Given the description of an element on the screen output the (x, y) to click on. 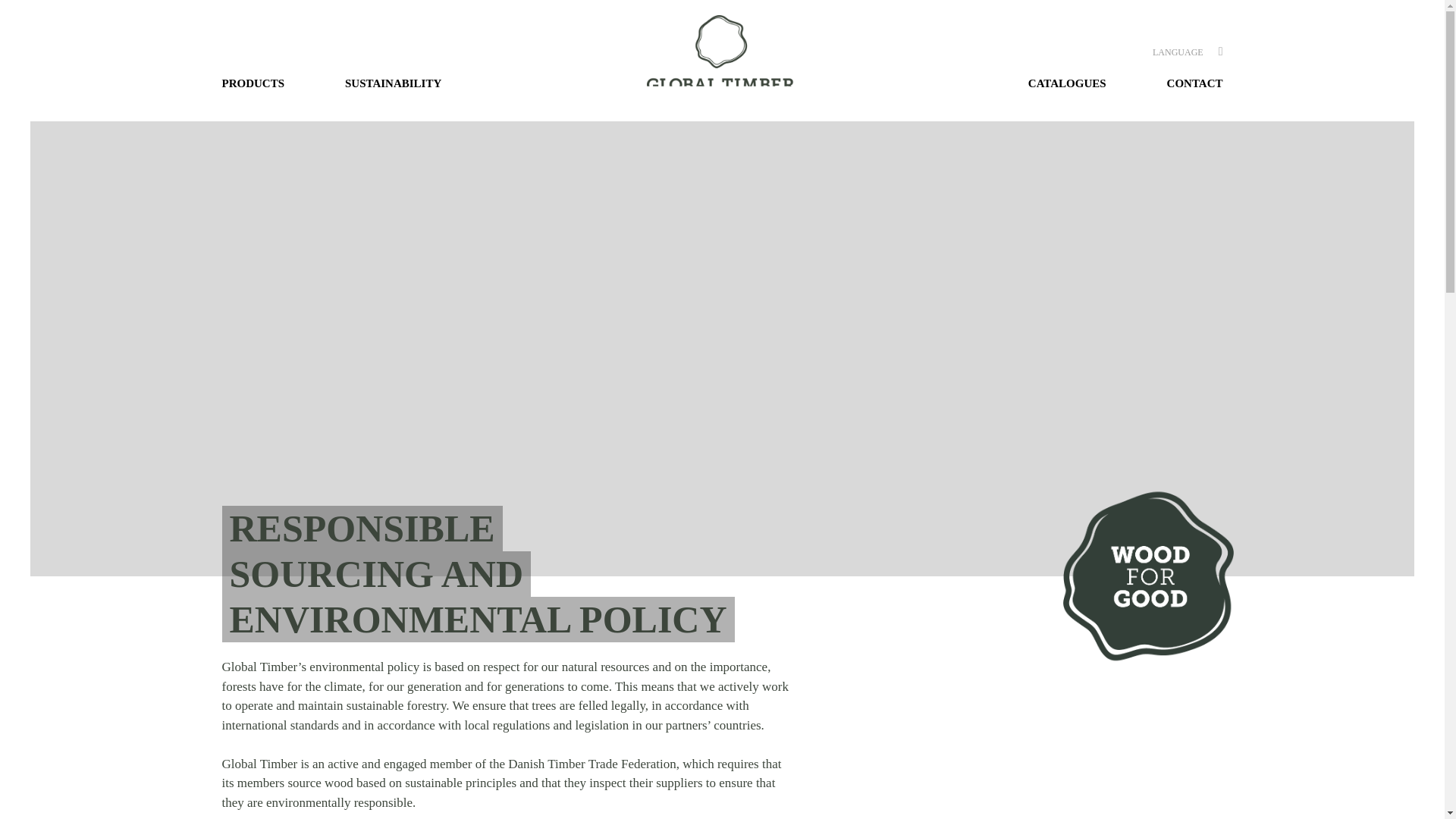
LANGUAGE (1178, 51)
SUSTAINABILITY (392, 83)
CATALOGUES (1067, 83)
CONTACT (1180, 83)
PRODUCTS (267, 83)
